Given the description of an element on the screen output the (x, y) to click on. 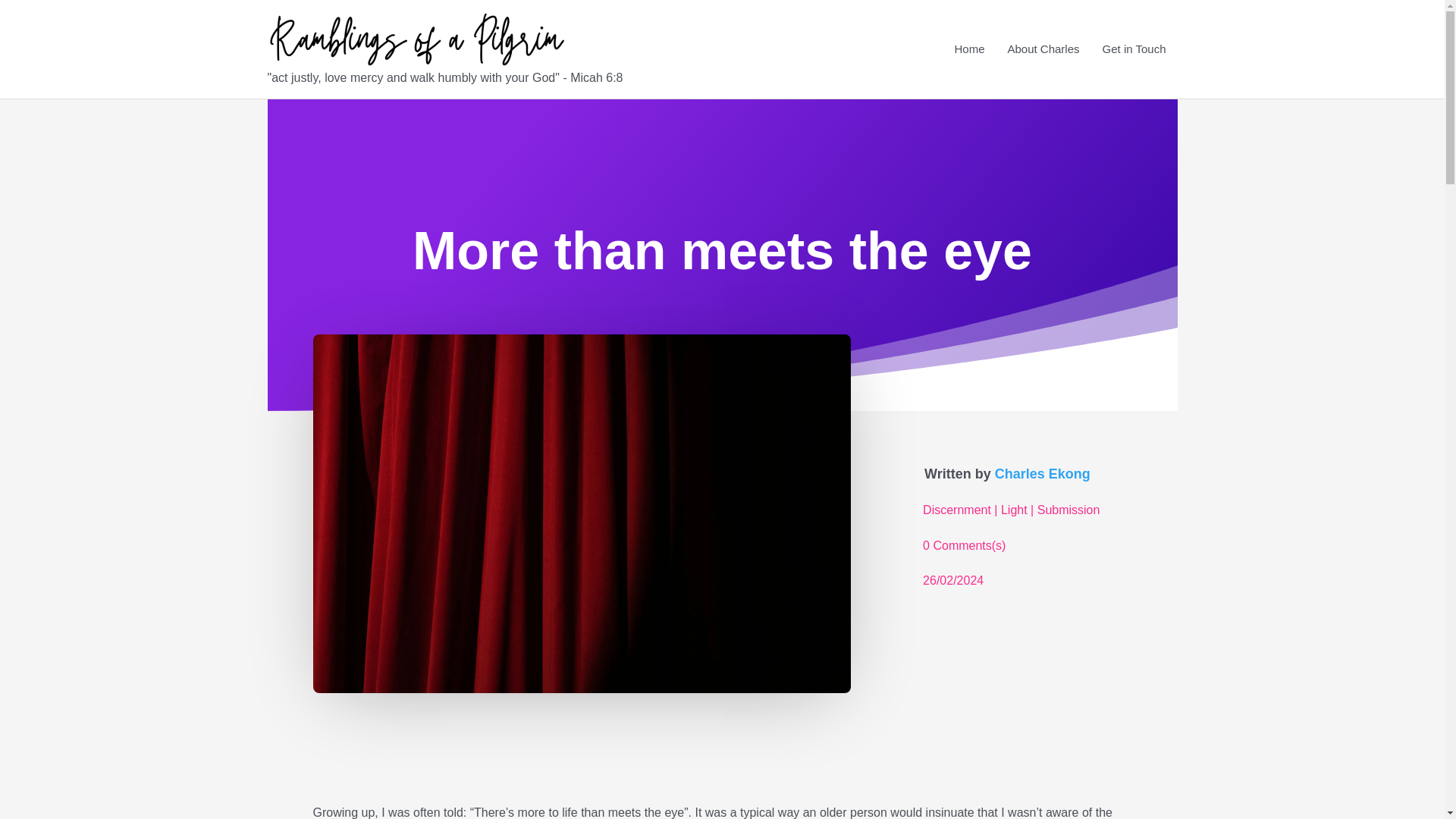
About Charles (1042, 49)
Submission (1068, 513)
Light (1014, 513)
Home (968, 49)
Discernment (957, 513)
Get in Touch (1133, 49)
Charles Ekong (1042, 477)
